Given the description of an element on the screen output the (x, y) to click on. 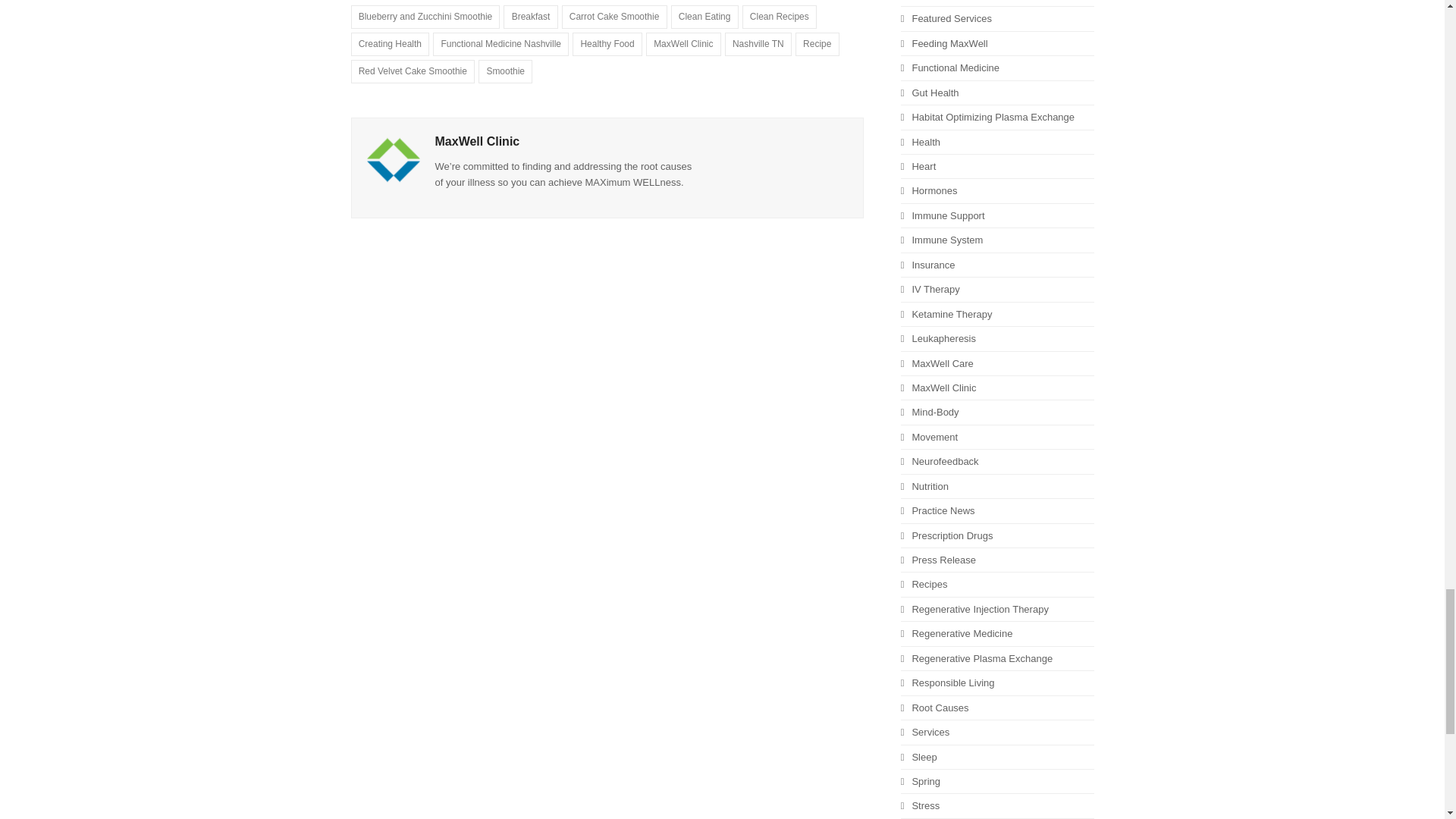
Functional Medicine Nashville (500, 44)
Recipe (817, 44)
Creating Health (389, 44)
MaxWell Clinic (683, 44)
Healthy Food (607, 44)
Smoothie (505, 71)
Red Velvet Cake Smoothie (412, 71)
Clean Eating (704, 16)
Carrot Cake Smoothie (614, 16)
Blueberry and Zucchini Smoothie (424, 16)
